Given the description of an element on the screen output the (x, y) to click on. 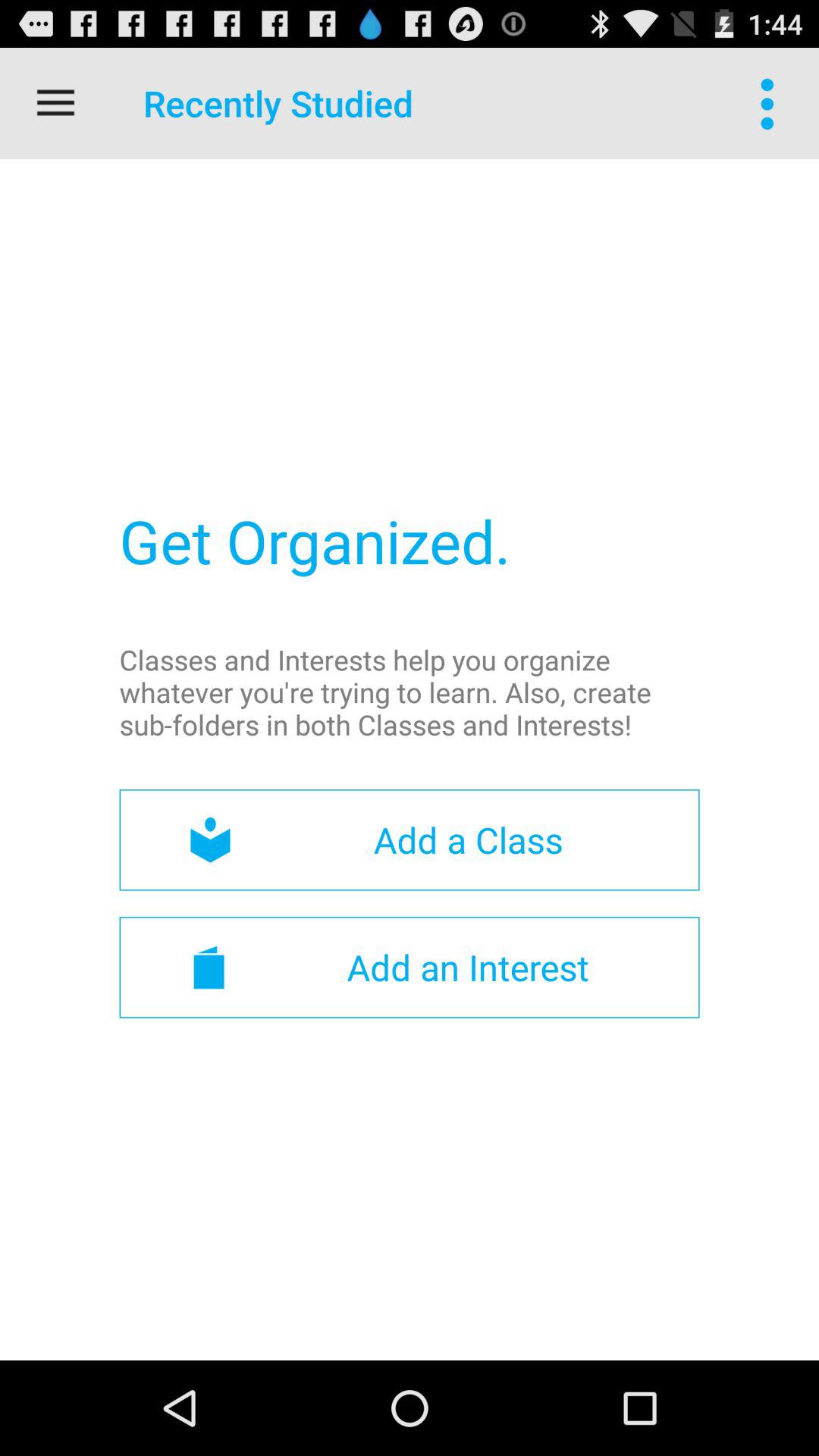
turn off the item above the add an interest item (409, 839)
